Given the description of an element on the screen output the (x, y) to click on. 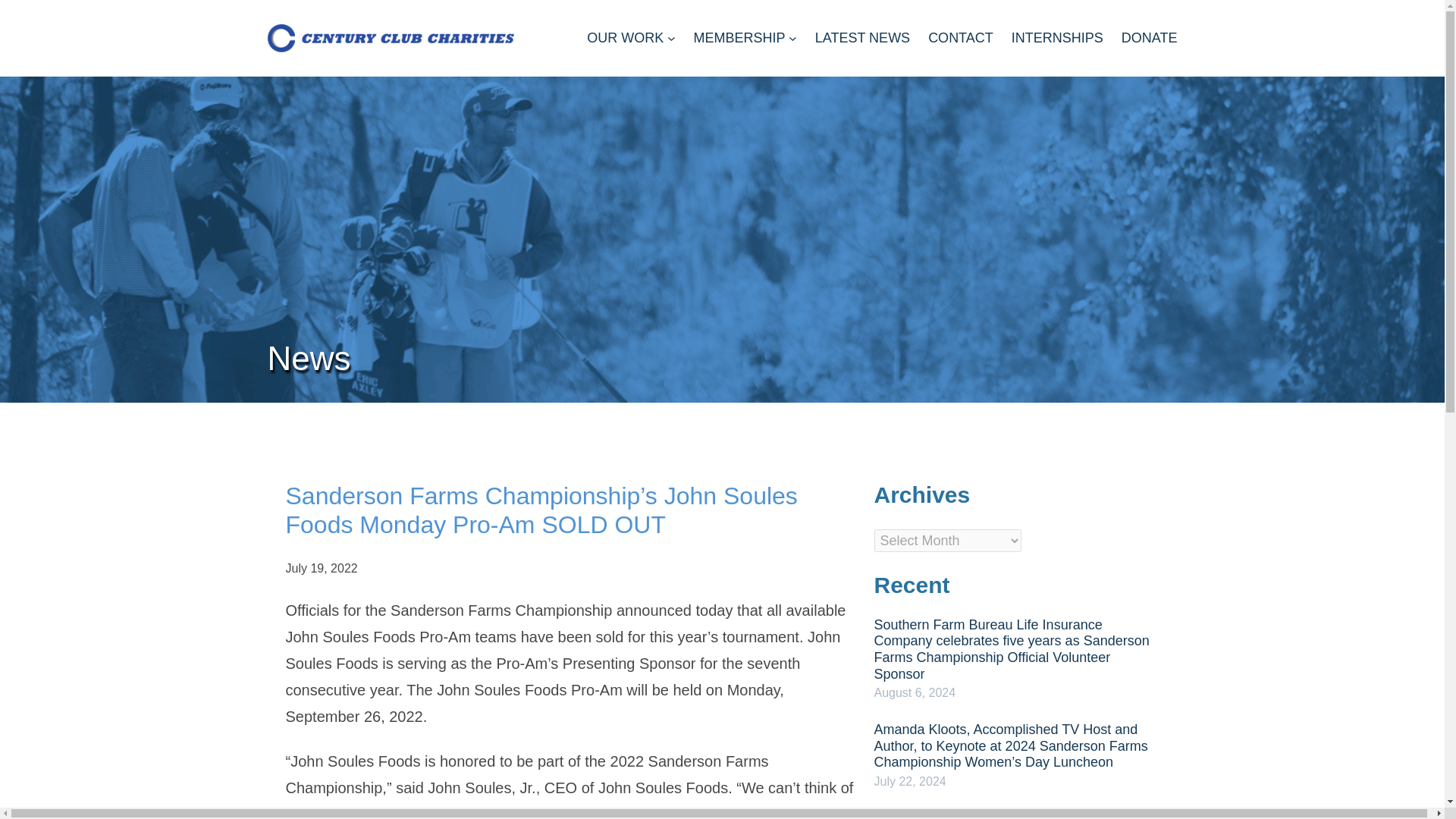
OUR WORK (624, 38)
MEMBERSHIP (738, 38)
CONTACT (960, 38)
LATEST NEWS (862, 38)
DONATE (1149, 38)
INTERNSHIPS (1057, 38)
